Given the description of an element on the screen output the (x, y) to click on. 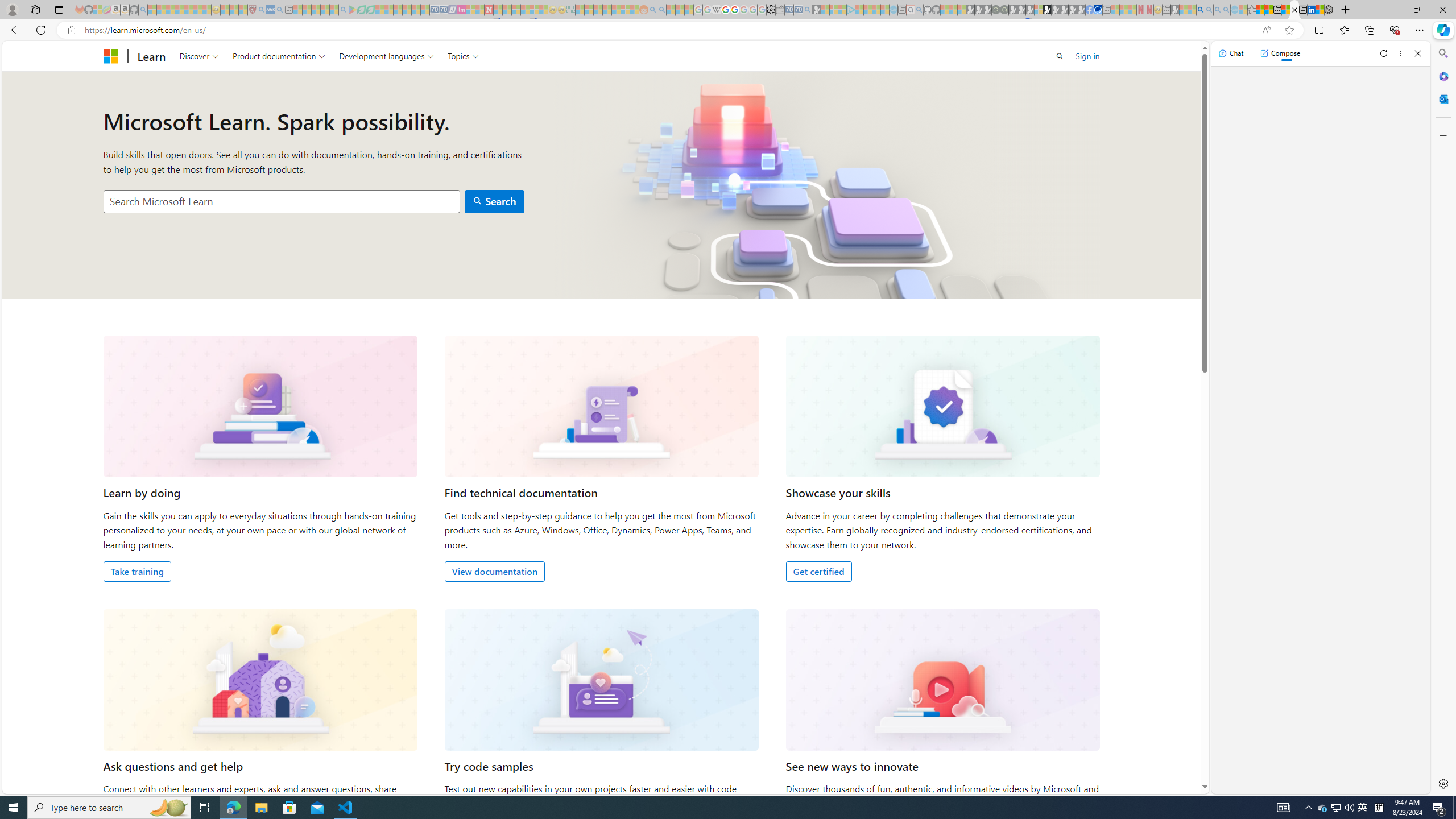
Development languages (386, 55)
